Given the description of an element on the screen output the (x, y) to click on. 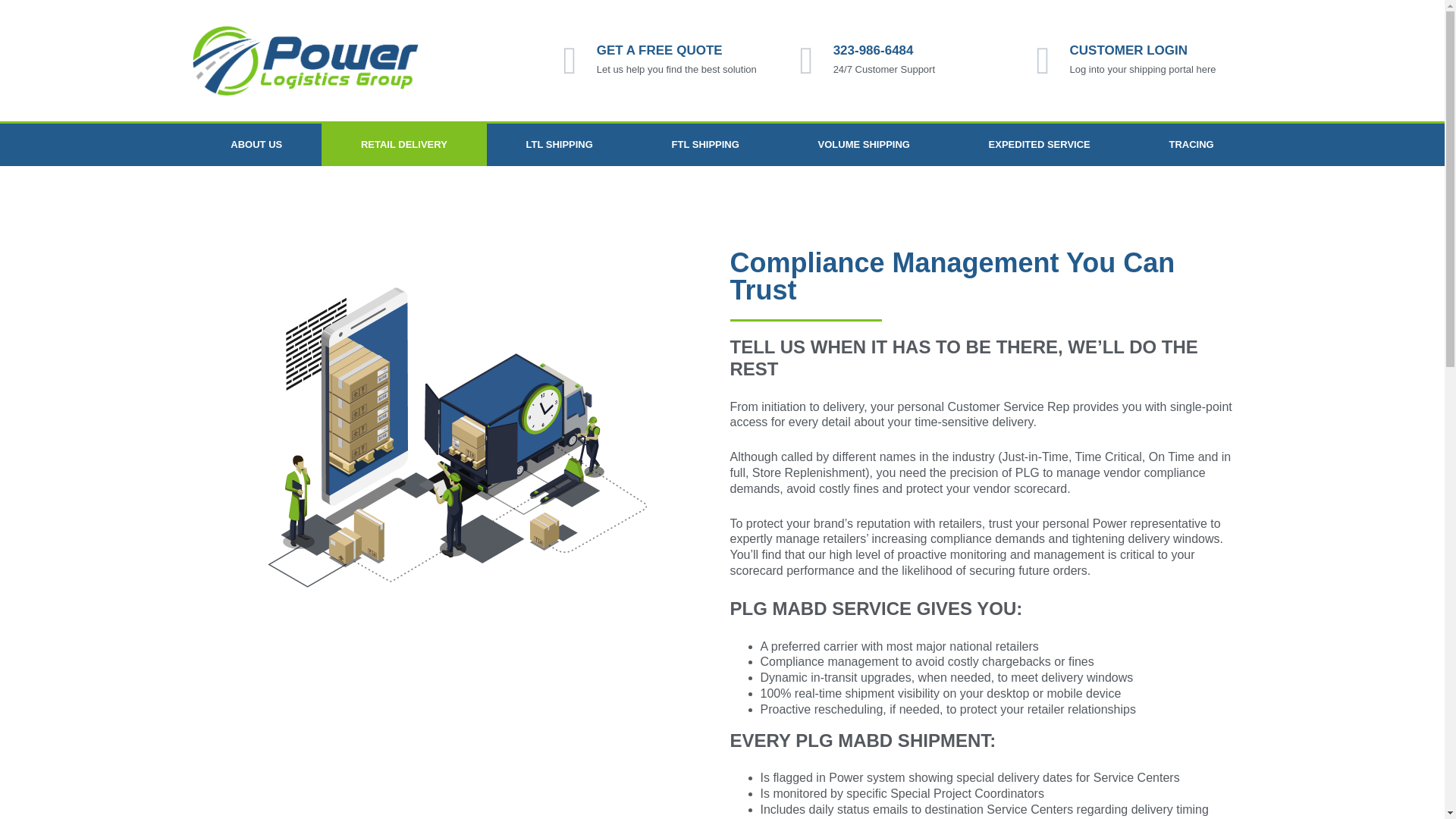
CUSTOMER LOGIN (1129, 50)
FTL SHIPPING (704, 144)
VOLUME SHIPPING (863, 144)
323-986-6484 (873, 50)
GET A FREE QUOTE (659, 50)
RETAIL DELIVERY (403, 144)
TRACING (1191, 144)
LTL SHIPPING (558, 144)
EXPEDITED SERVICE (1039, 144)
ABOUT US (255, 144)
